Given the description of an element on the screen output the (x, y) to click on. 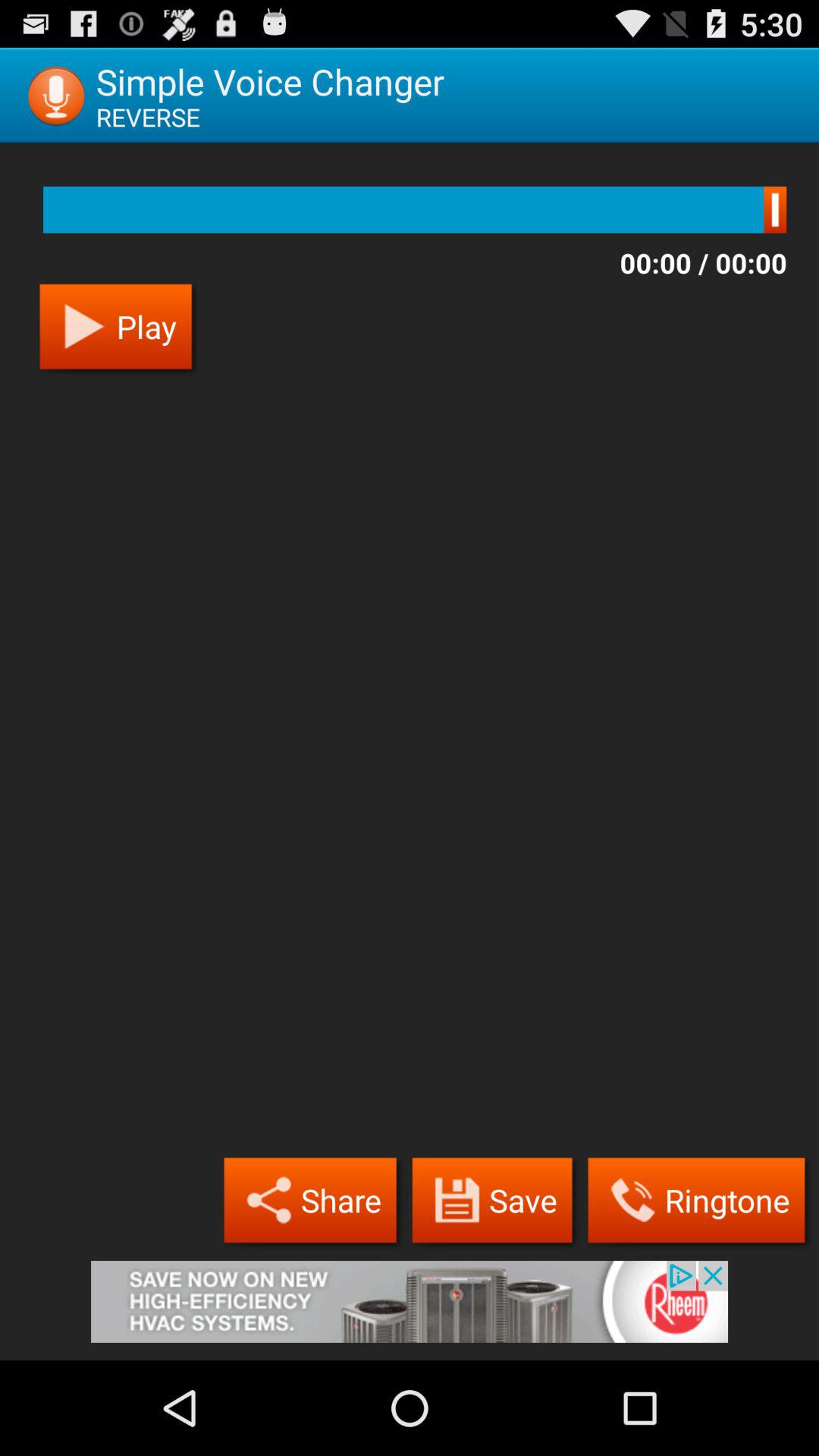
open advertisement (409, 1310)
